Given the description of an element on the screen output the (x, y) to click on. 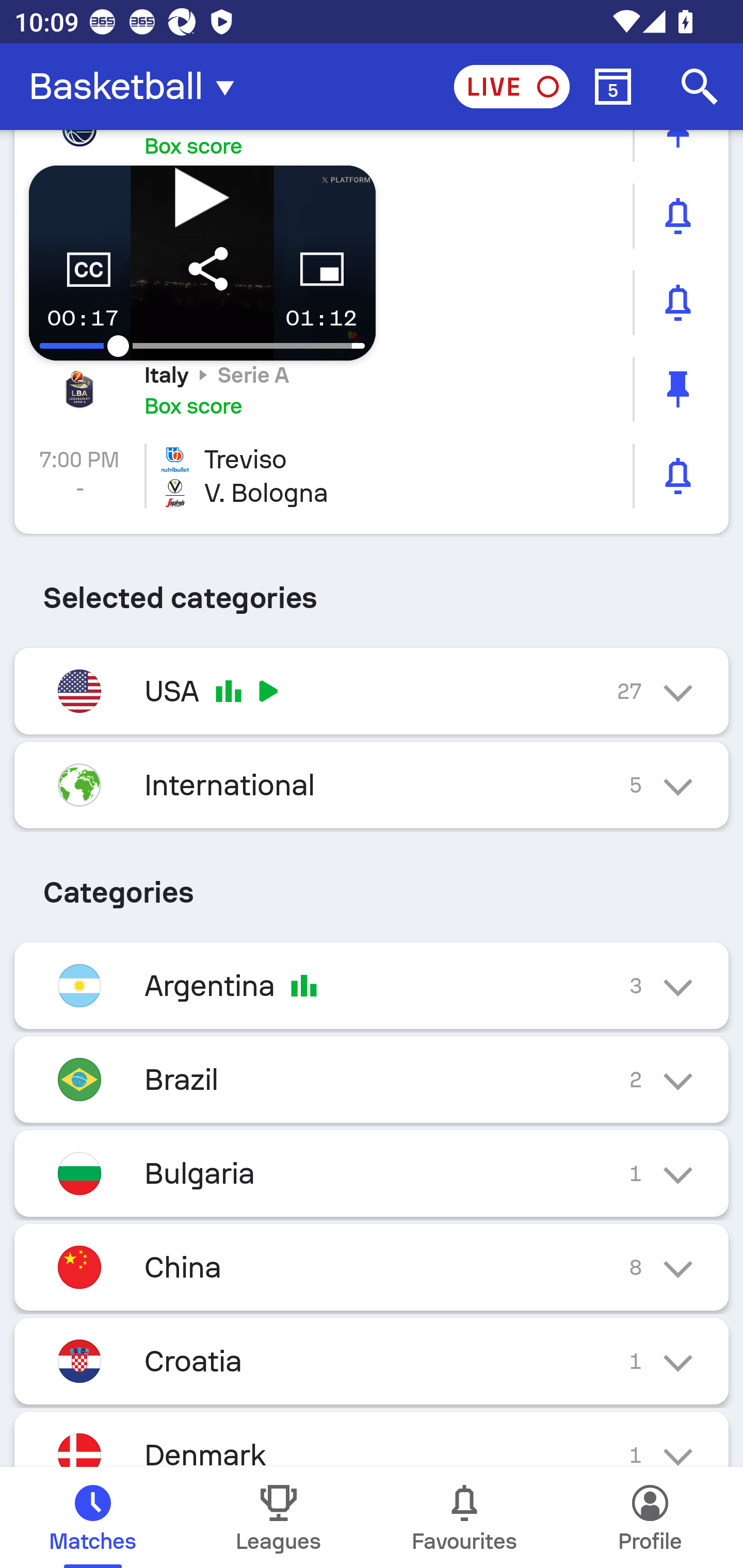
Basketball (137, 86)
Calendar (612, 86)
Search (699, 86)
Italy Serie A Box score (371, 389)
7:00 PM - Treviso V. Bologna (371, 475)
Selected categories (371, 590)
USA 27 (371, 690)
International 5 (371, 784)
Categories (371, 885)
Argentina 3 (371, 985)
Brazil 2 (371, 1079)
Bulgaria 1 (371, 1173)
China 8 (371, 1267)
Croatia 1 (371, 1360)
Denmark 1 (371, 1439)
Leagues (278, 1517)
Favourites (464, 1517)
Profile (650, 1517)
